Given the description of an element on the screen output the (x, y) to click on. 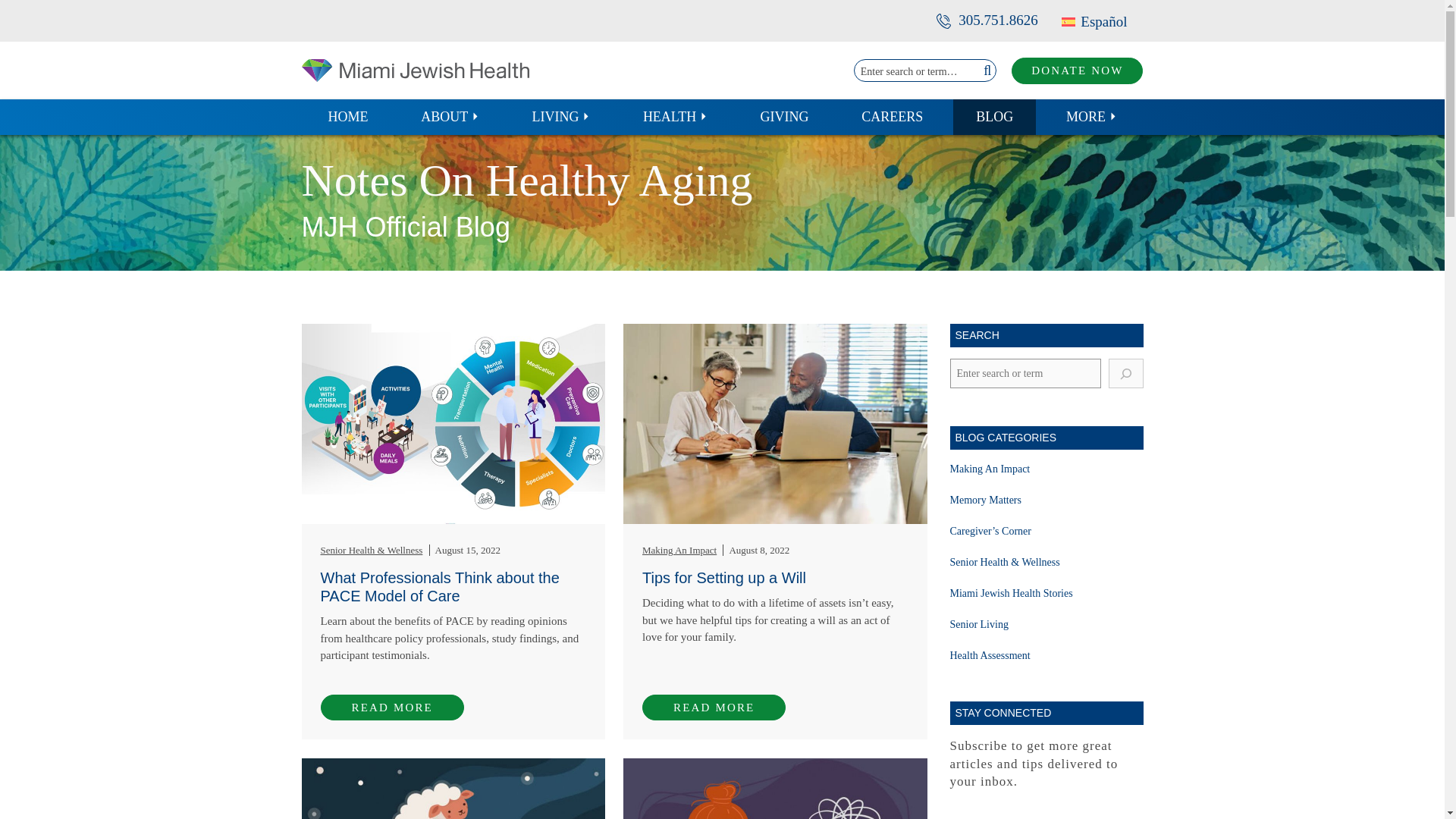
GIVING (784, 117)
HEALTH (675, 117)
BLOG (994, 117)
HOME (347, 117)
CAREERS (891, 117)
305.751.8626 (987, 20)
LIVING (560, 117)
DONATE NOW (1076, 70)
MORE (1091, 117)
ABOUT (449, 117)
Miami Jewish Health (415, 70)
